Given the description of an element on the screen output the (x, y) to click on. 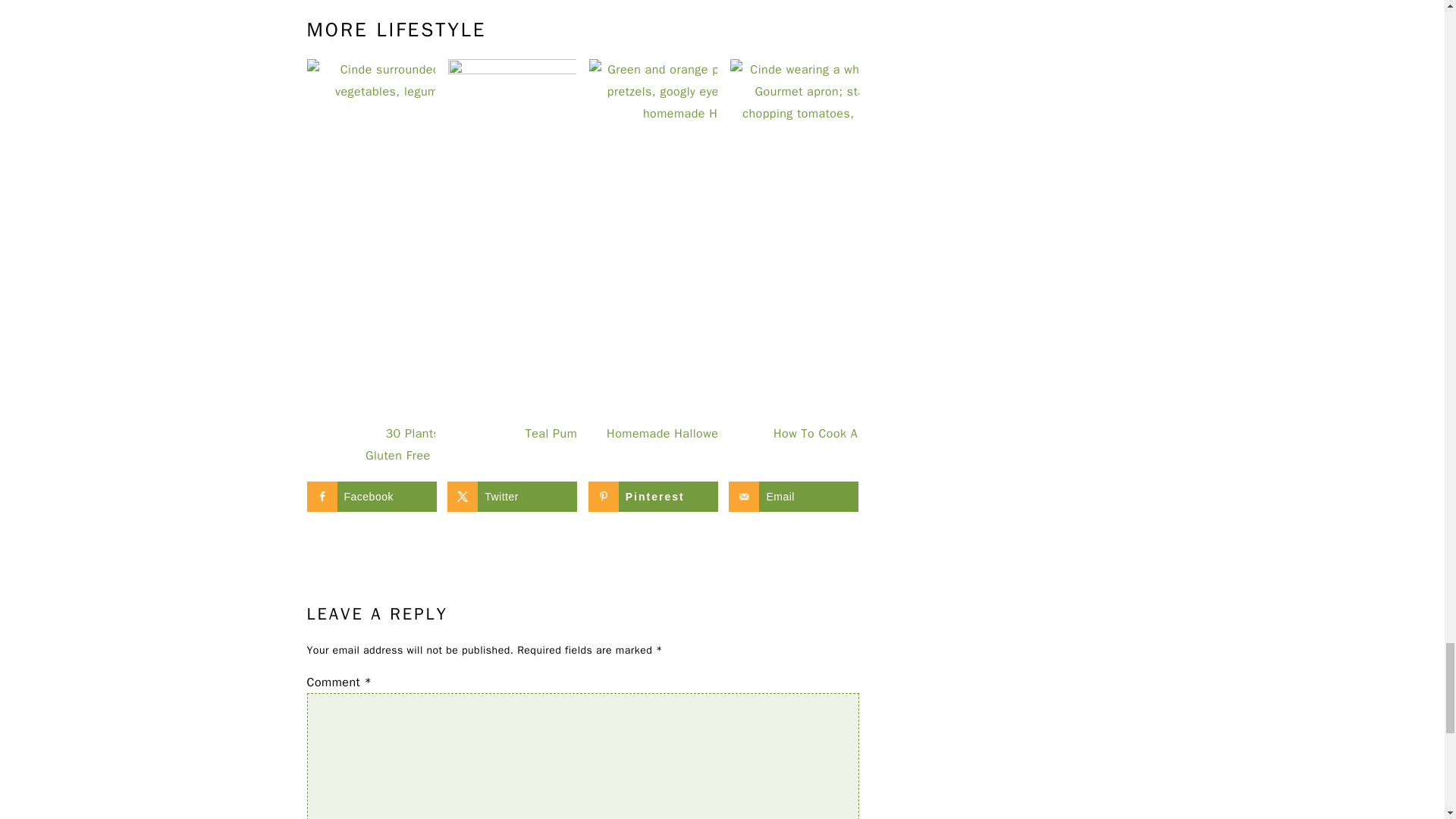
Share on X (511, 496)
Save to Pinterest (652, 496)
Share on Facebook (370, 496)
Send over email (794, 496)
